Given the description of an element on the screen output the (x, y) to click on. 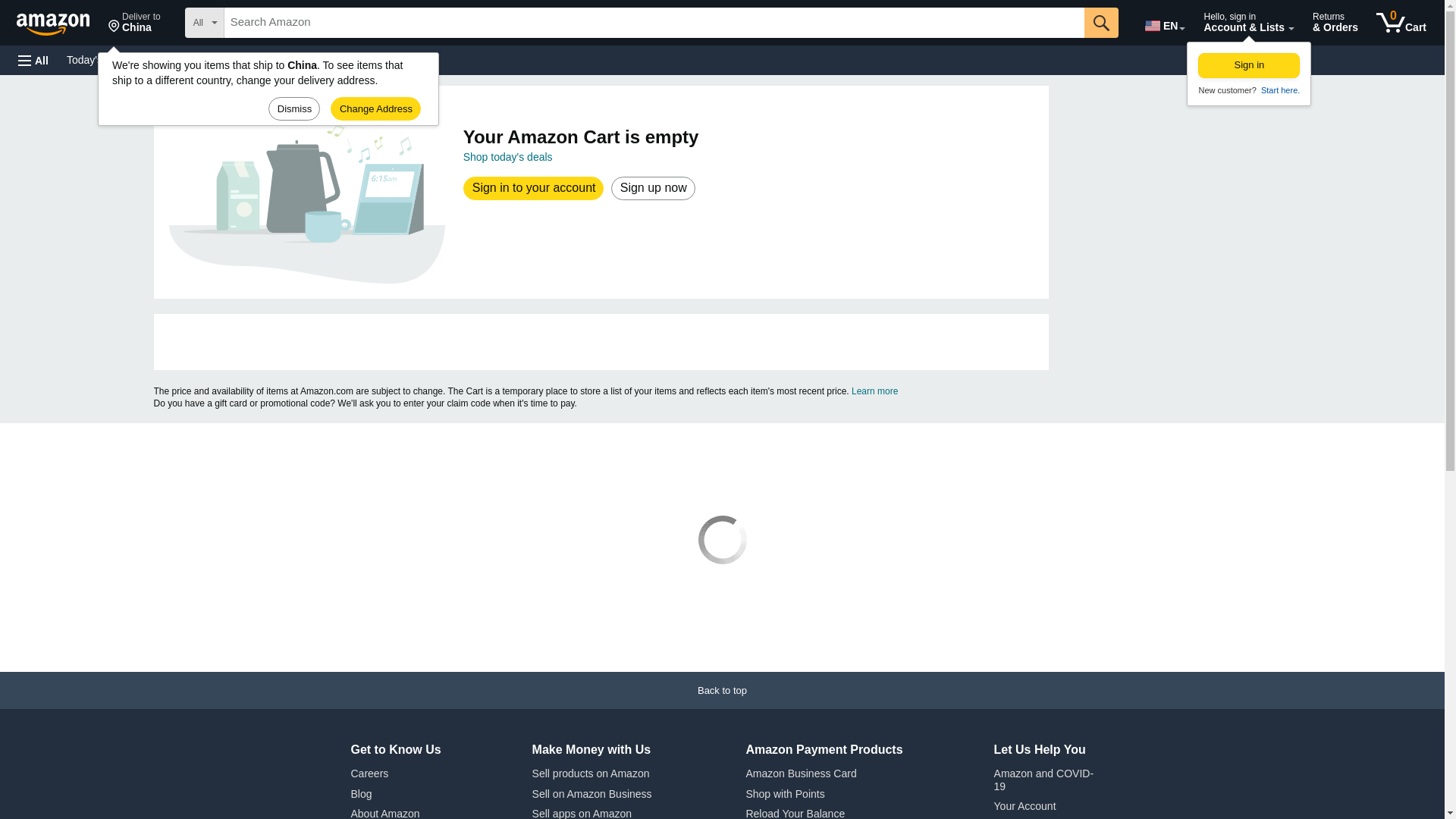
Today's Deals (99, 59)
Sign in to your account (534, 188)
Registry (272, 59)
Go (1101, 22)
Sign up now (652, 188)
All (33, 60)
Go (1101, 22)
Customer Service (192, 59)
EN (1163, 22)
